Given the description of an element on the screen output the (x, y) to click on. 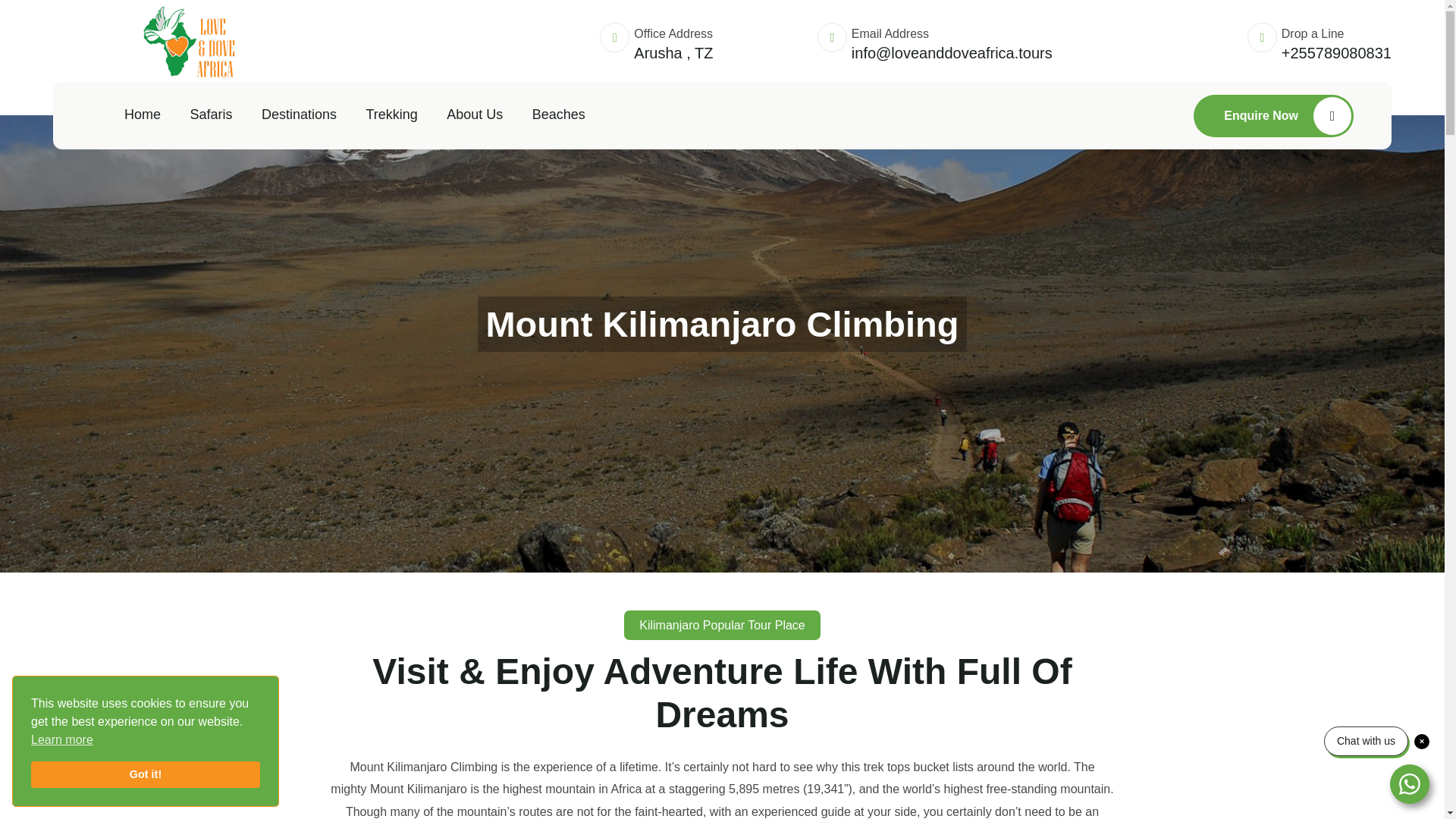
Enquire Now (1273, 115)
Destinations (299, 115)
Learn more (61, 740)
Got it! (145, 774)
